Given the description of an element on the screen output the (x, y) to click on. 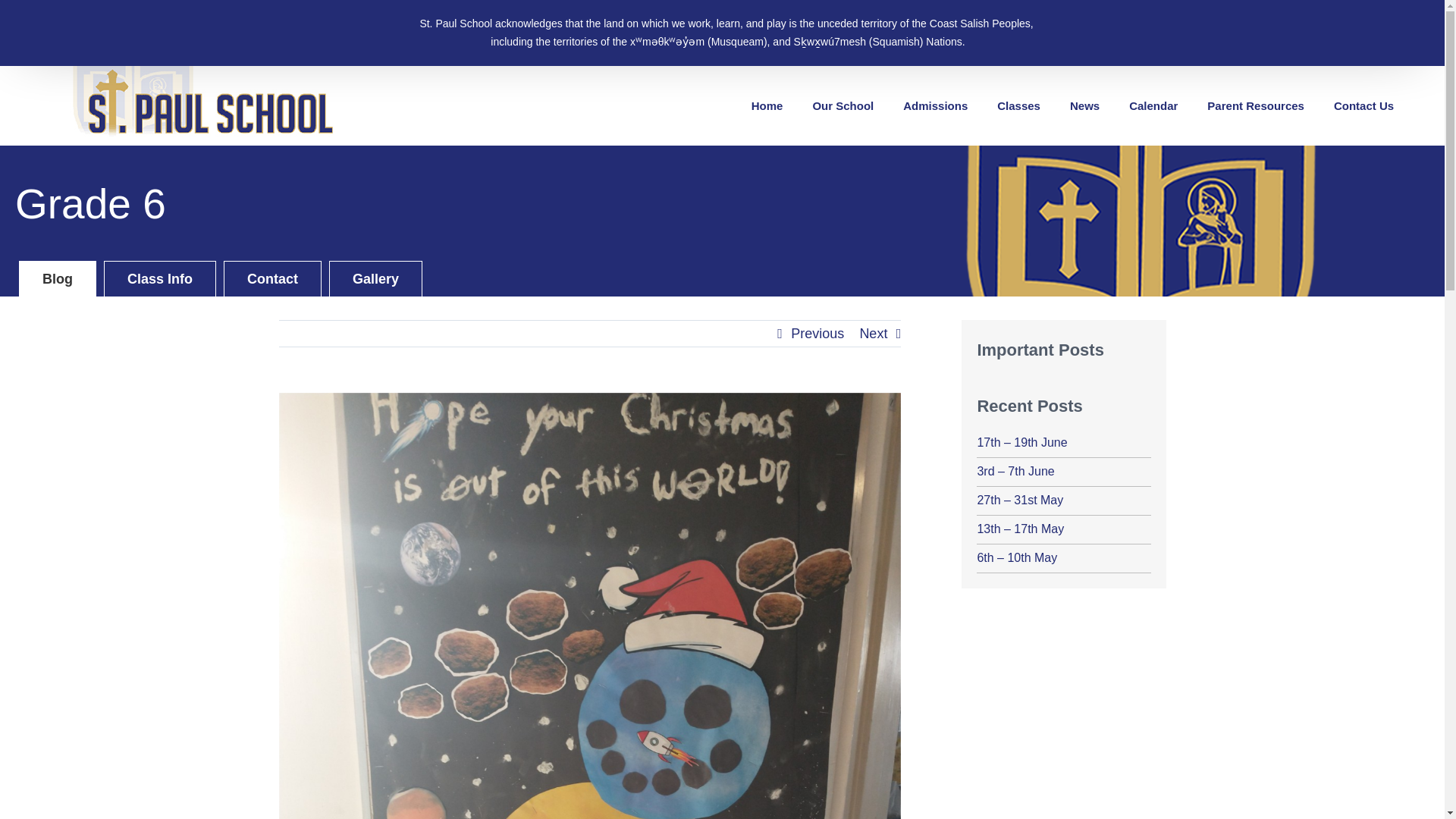
Parent Resources (1255, 105)
